Given the description of an element on the screen output the (x, y) to click on. 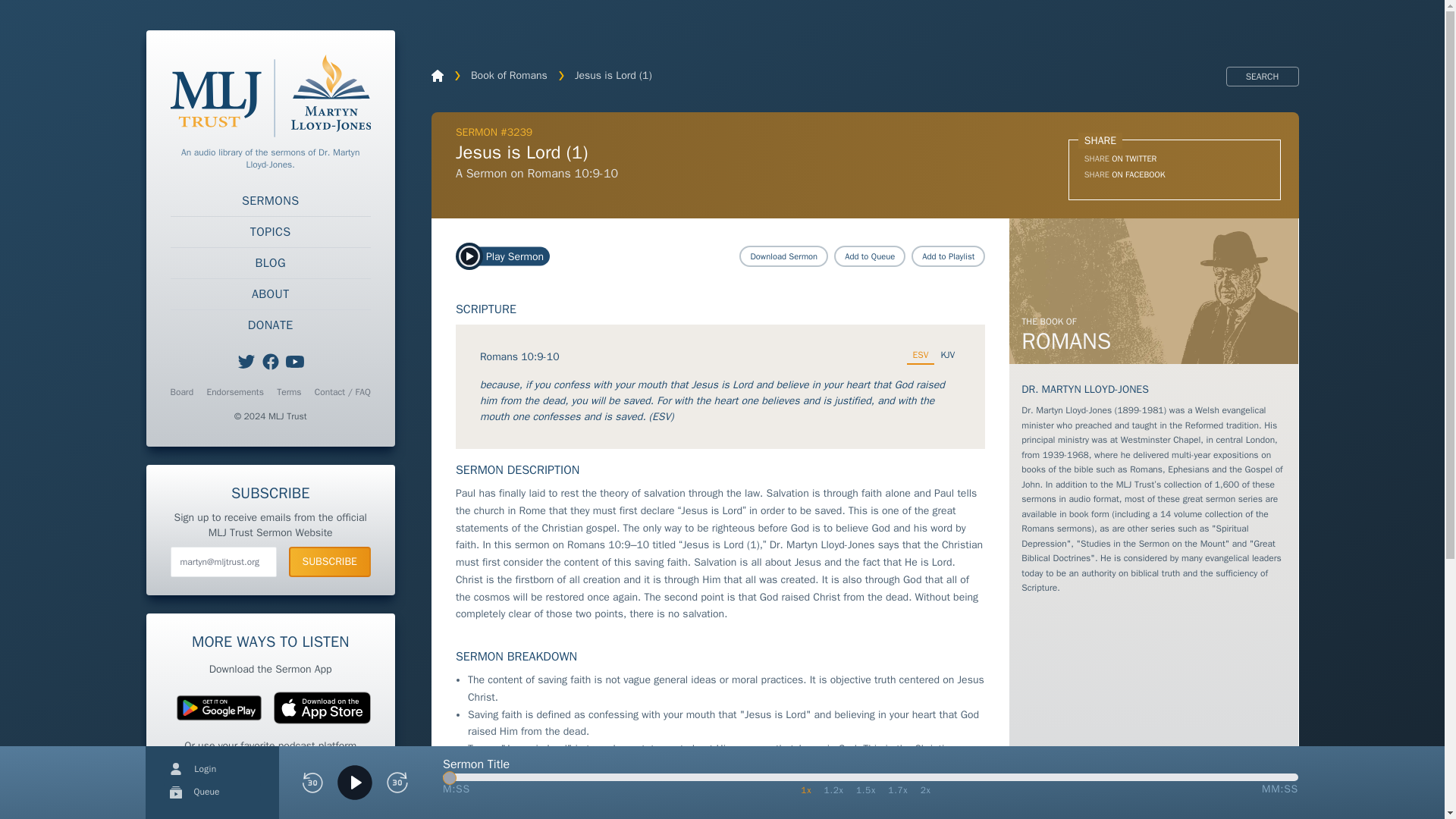
queue (176, 792)
Endorsements (234, 391)
SERMONS (269, 200)
MLJ Trust on Twitter (246, 361)
DONATE (269, 325)
MLJ Trust on YouTube (294, 361)
Sermons on Book of Romans by Dr. Martyn Lloyd-Jones (1153, 290)
BLOG (269, 263)
Board (181, 391)
TOPICS (269, 232)
Subscribe (328, 562)
MLJ Trust on Facebook (270, 361)
ABOUT (269, 294)
Subscribe (328, 562)
